Given the description of an element on the screen output the (x, y) to click on. 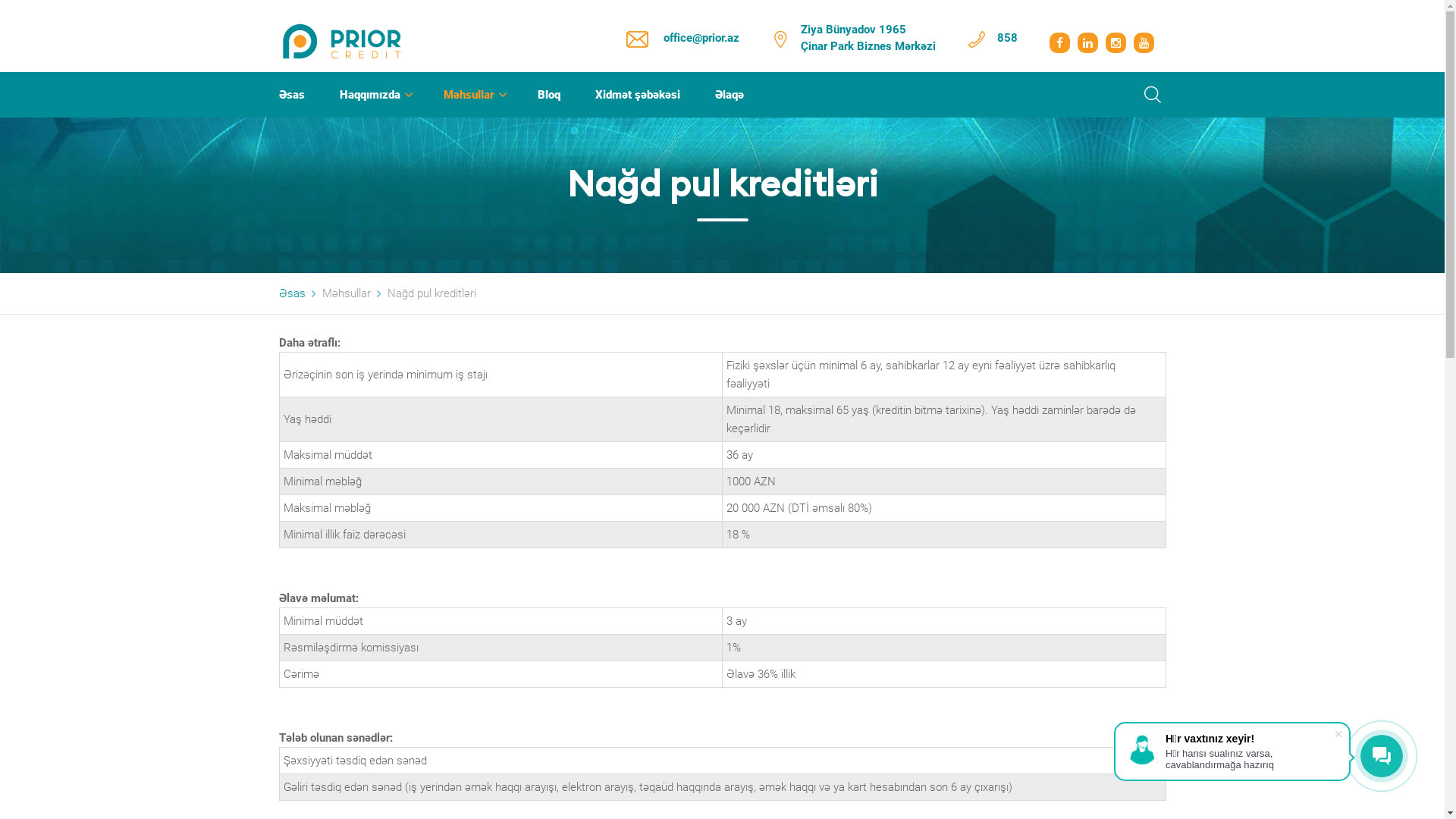
office@prior.az Element type: text (700, 37)
Bloq Element type: text (547, 94)
858 Element type: text (1006, 37)
